Given the description of an element on the screen output the (x, y) to click on. 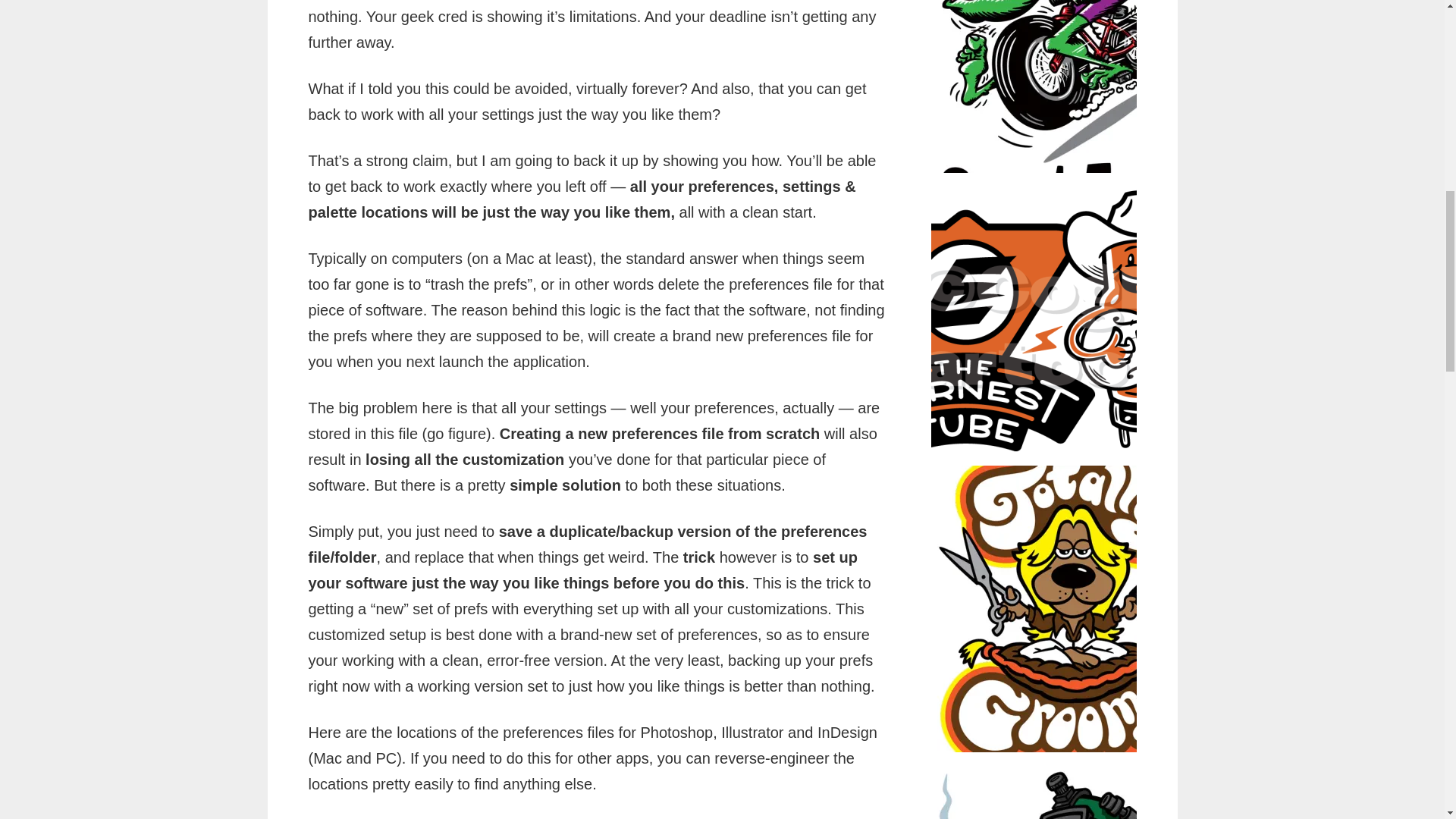
fat-tire-speed-freak-coghill (1074, 86)
totally-groomy-logo-coghill (1074, 609)
earnest-tube-retro-cartoon-logo-lg (1074, 319)
Token-Gaming-cartoon-logo (1074, 787)
